Given the description of an element on the screen output the (x, y) to click on. 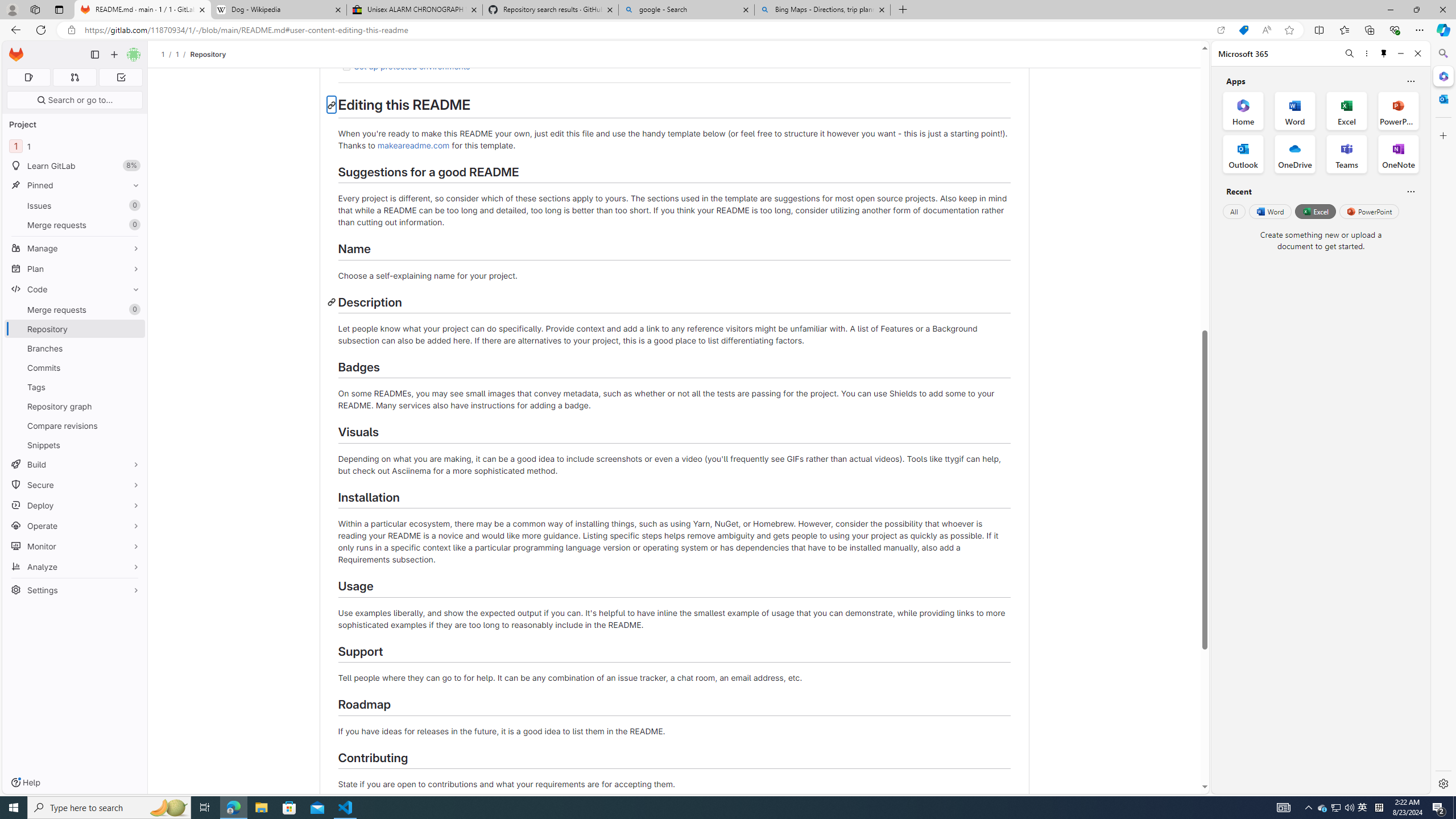
Repository graph (74, 406)
Repository (207, 53)
Excel (1315, 210)
Manage (74, 248)
Branches (74, 348)
OneDrive Office App (1295, 154)
makeareadme.com (413, 144)
Word Office App (1295, 110)
Home Office App (1243, 110)
Teams Office App (1346, 154)
AutomationID: user-content-editing-this-readme (331, 104)
